Given the description of an element on the screen output the (x, y) to click on. 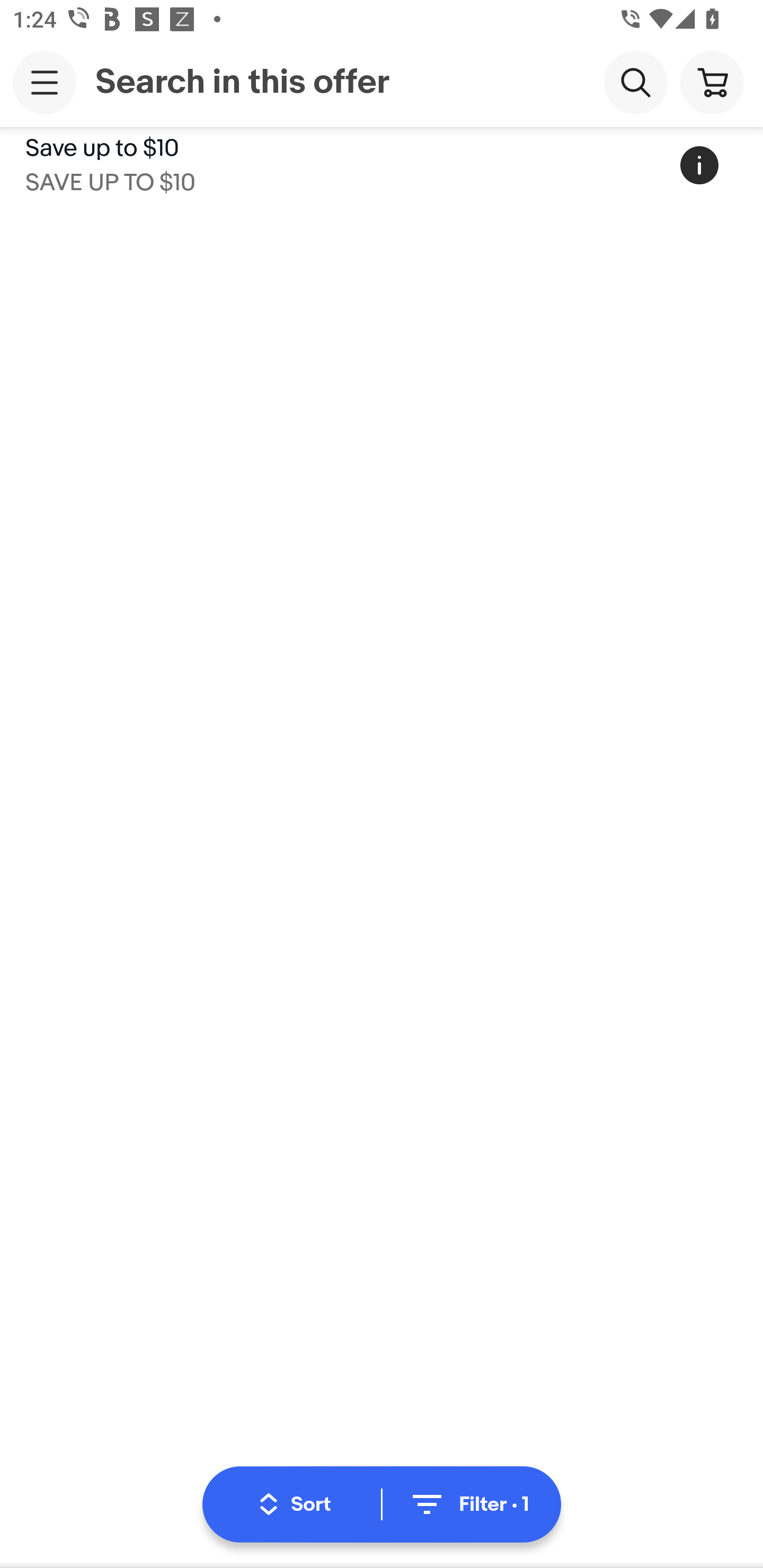
Main navigation, open (44, 82)
Search (635, 81)
Cart button shopping cart (711, 81)
More information regarding this promotion, button (699, 165)
SAVE UP TO $10 (110, 178)
Sort (294, 1504)
Filter • 1 (468, 1504)
